Given the description of an element on the screen output the (x, y) to click on. 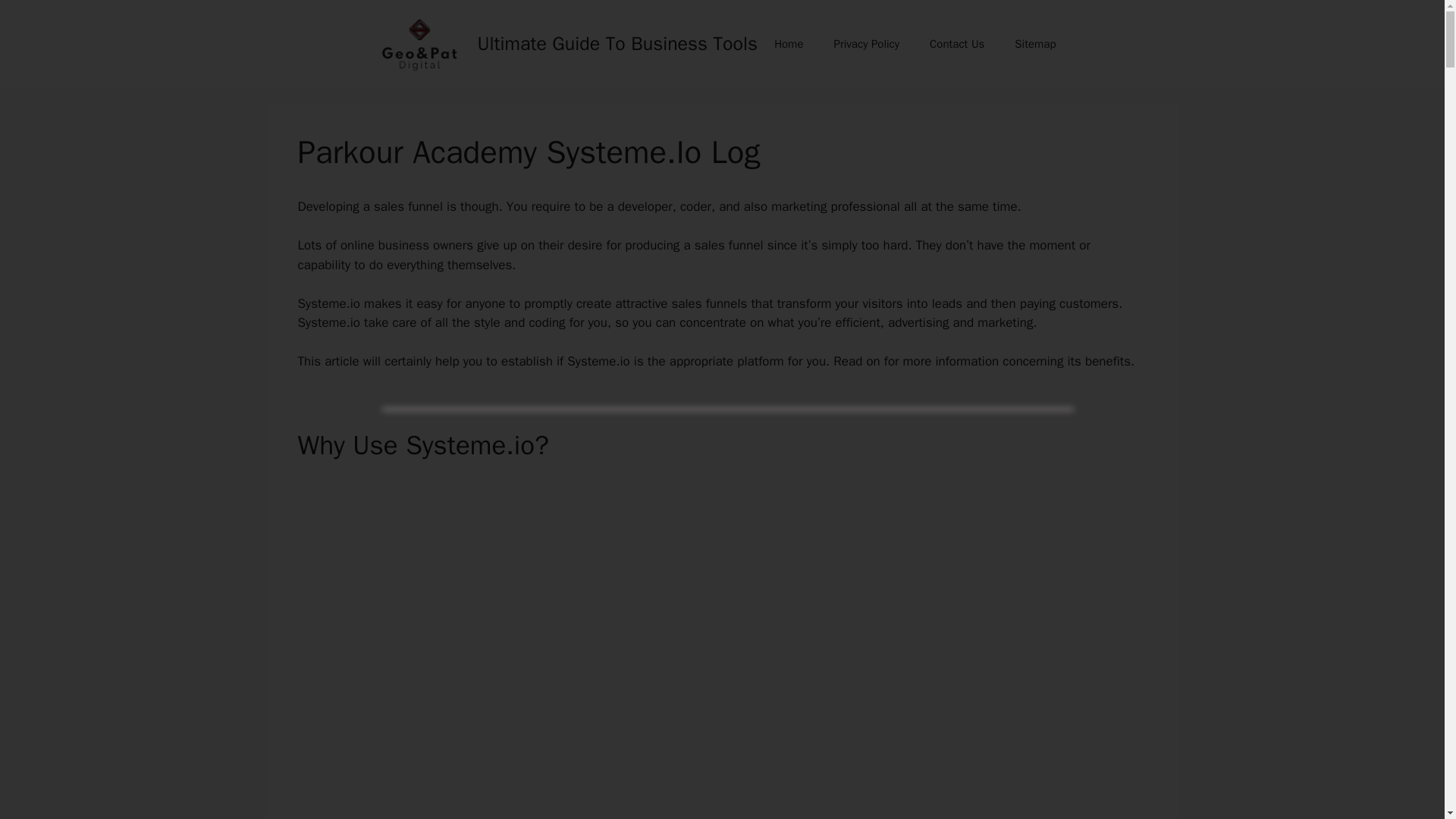
Ultimate Guide To Business Tools (617, 43)
Privacy Policy (866, 43)
Contact Us (956, 43)
Home (788, 43)
Sitemap (1034, 43)
